Given the description of an element on the screen output the (x, y) to click on. 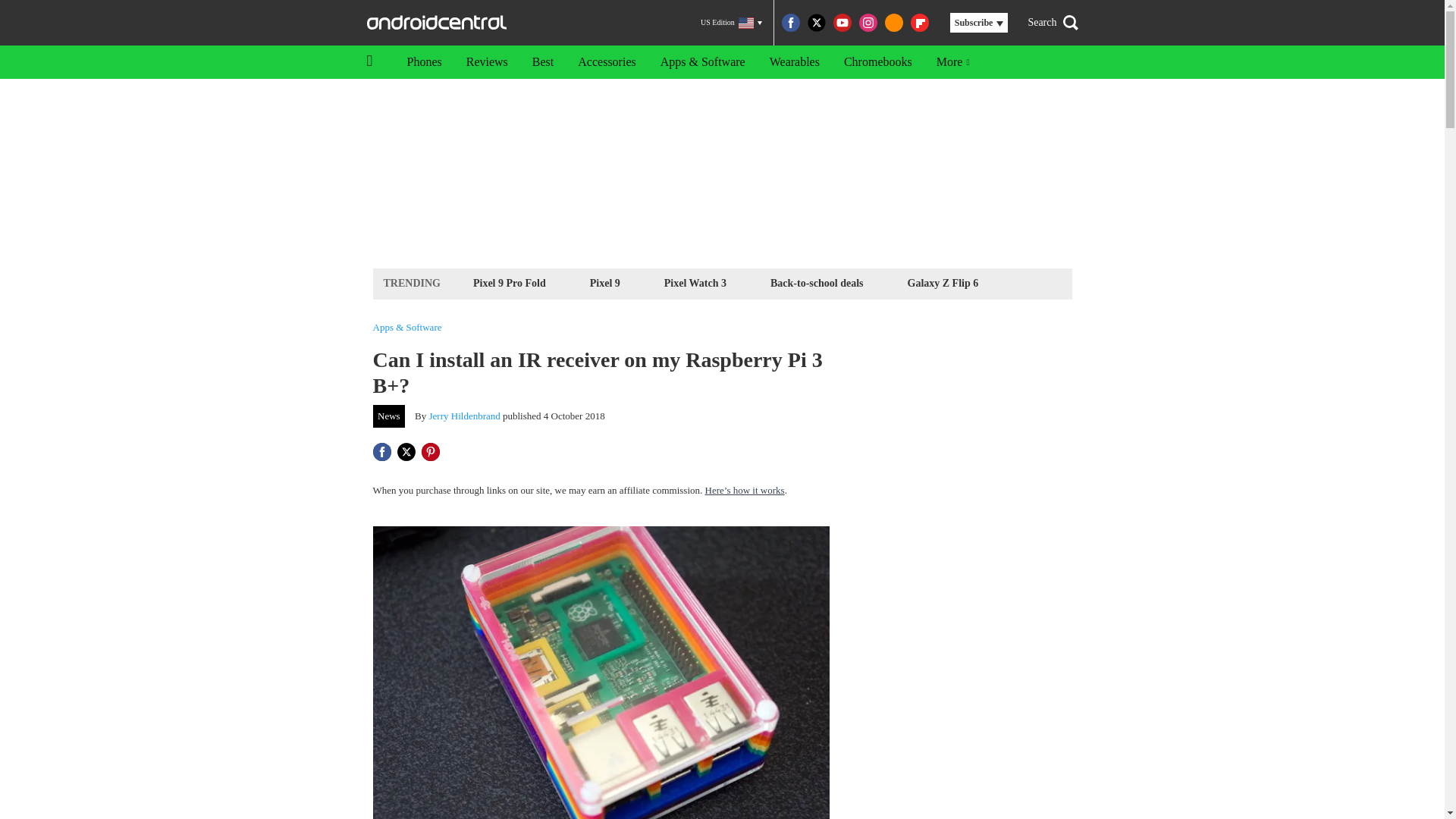
Galaxy Z Flip 6 (943, 282)
Chromebooks (877, 61)
US Edition (731, 22)
News (389, 415)
Pixel 9 Pro Fold (509, 282)
Pixel Watch 3 (695, 282)
Reviews (486, 61)
Wearables (794, 61)
Accessories (606, 61)
Jerry Hildenbrand (464, 415)
